Given the description of an element on the screen output the (x, y) to click on. 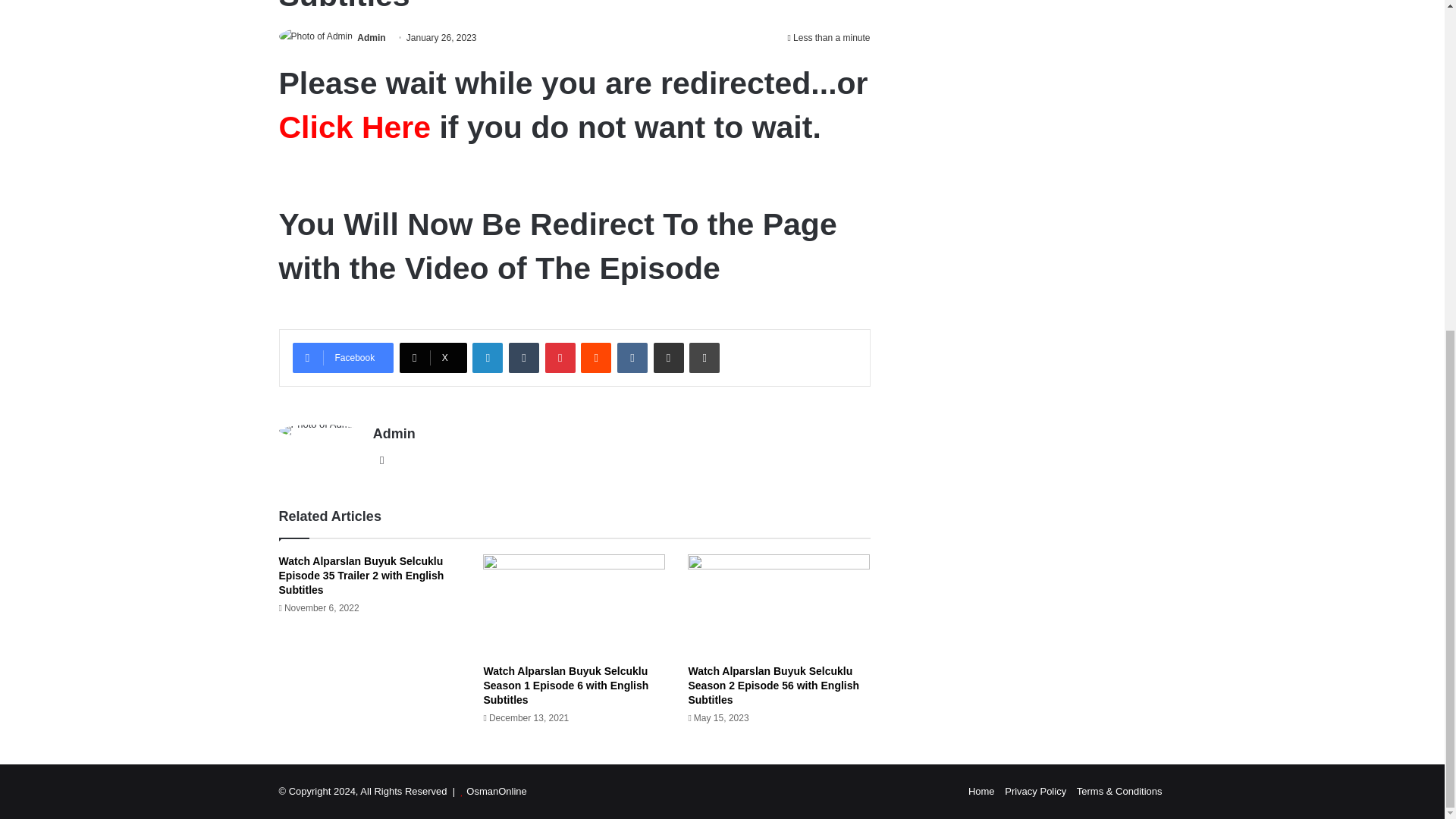
Admin (370, 37)
LinkedIn (486, 358)
VKontakte (632, 358)
Print (703, 358)
Reddit (595, 358)
Reddit (595, 358)
Admin (393, 433)
Privacy Policy (1034, 790)
Click Here (354, 126)
Pinterest (559, 358)
Share via Email (668, 358)
Website (381, 460)
X (432, 358)
Tumblr (523, 358)
Admin (370, 37)
